Given the description of an element on the screen output the (x, y) to click on. 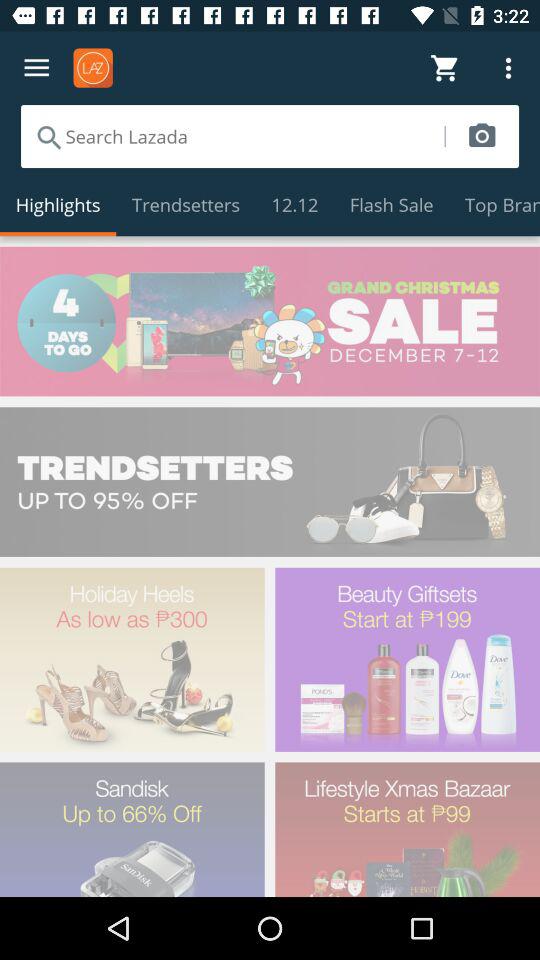
launch icon above the top brands (482, 136)
